Given the description of an element on the screen output the (x, y) to click on. 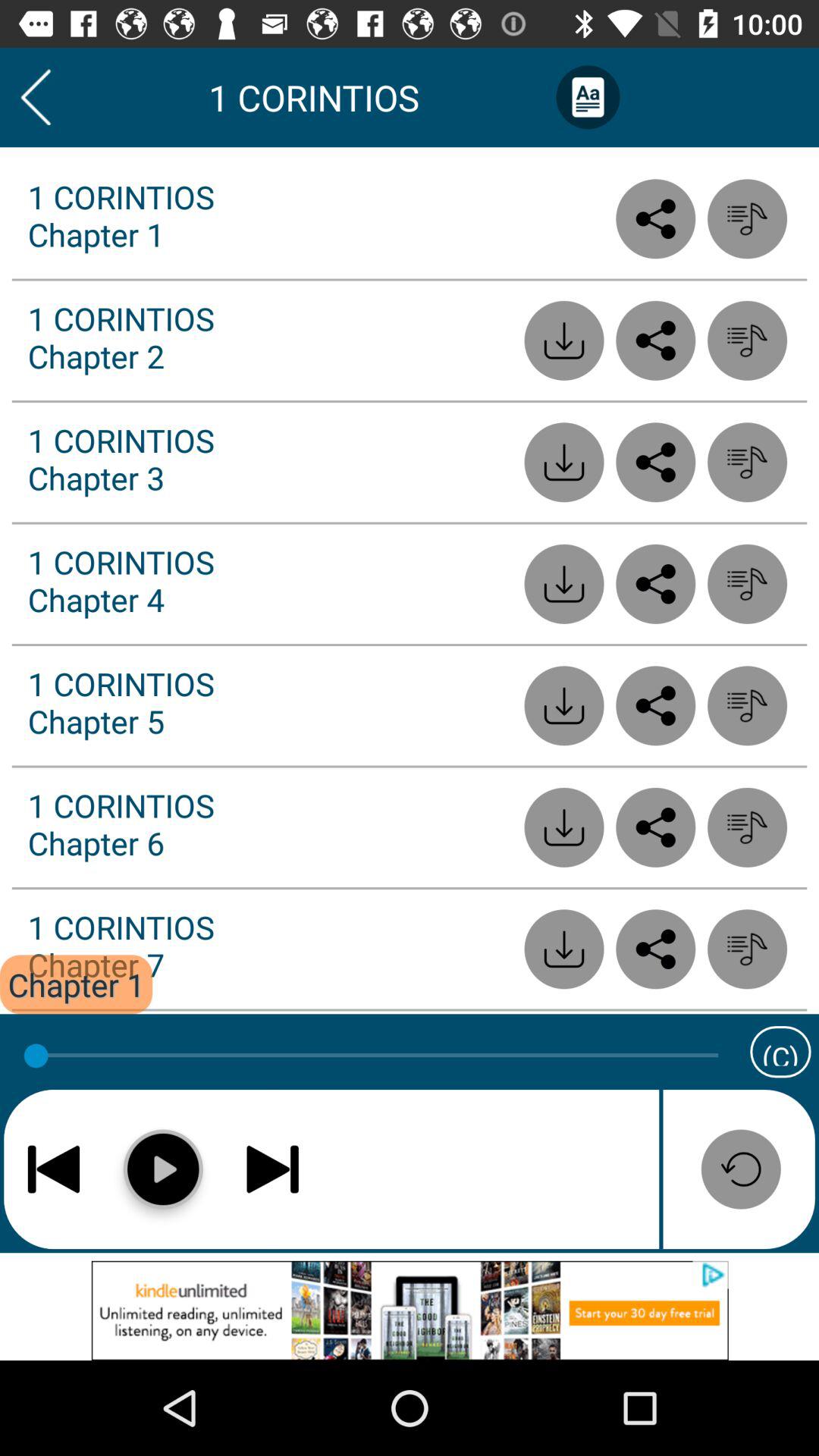
advertisement image (409, 1310)
